Given the description of an element on the screen output the (x, y) to click on. 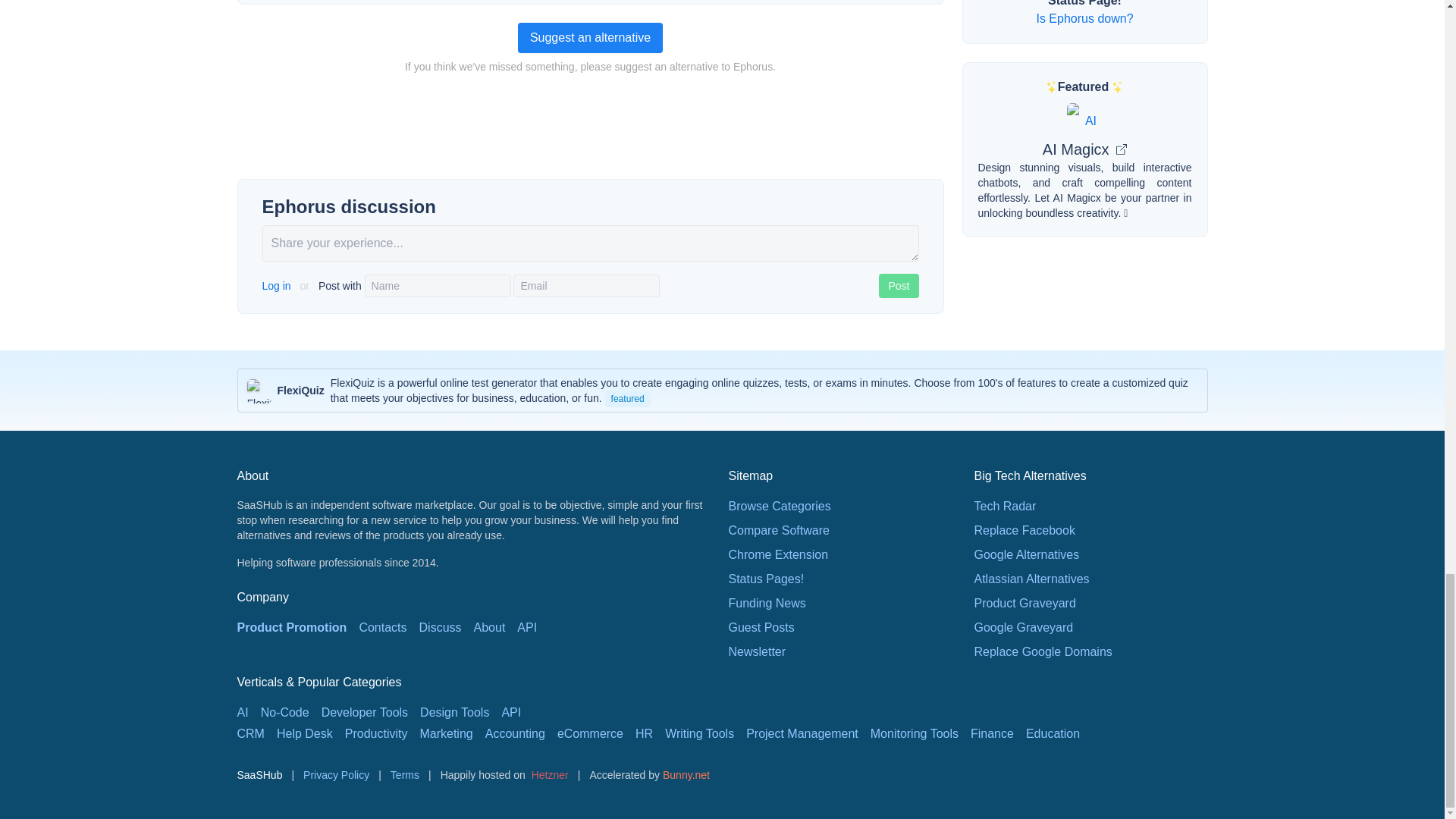
Post (898, 285)
